Given the description of an element on the screen output the (x, y) to click on. 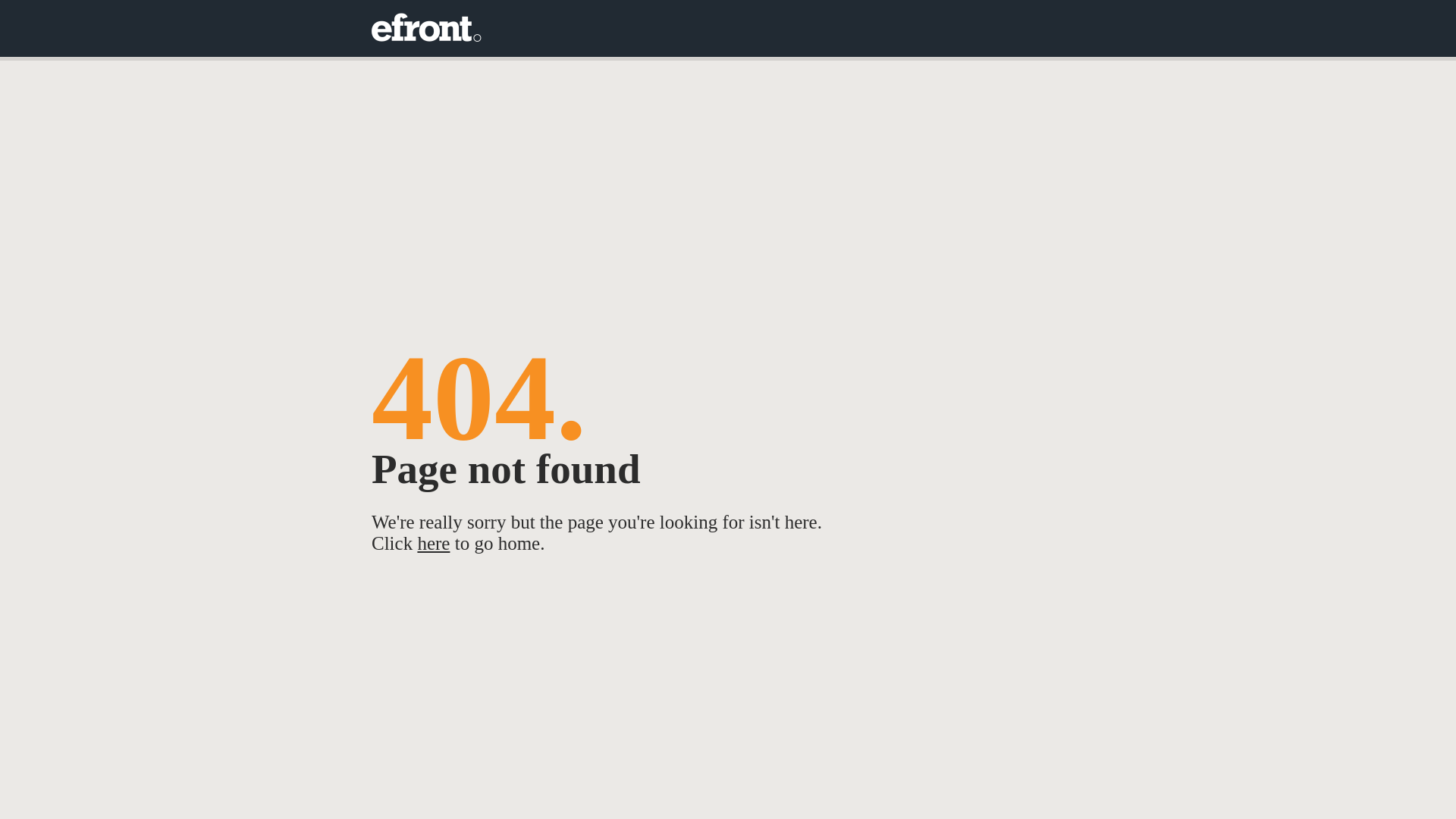
Efront Element type: text (426, 28)
here Element type: text (433, 543)
